Given the description of an element on the screen output the (x, y) to click on. 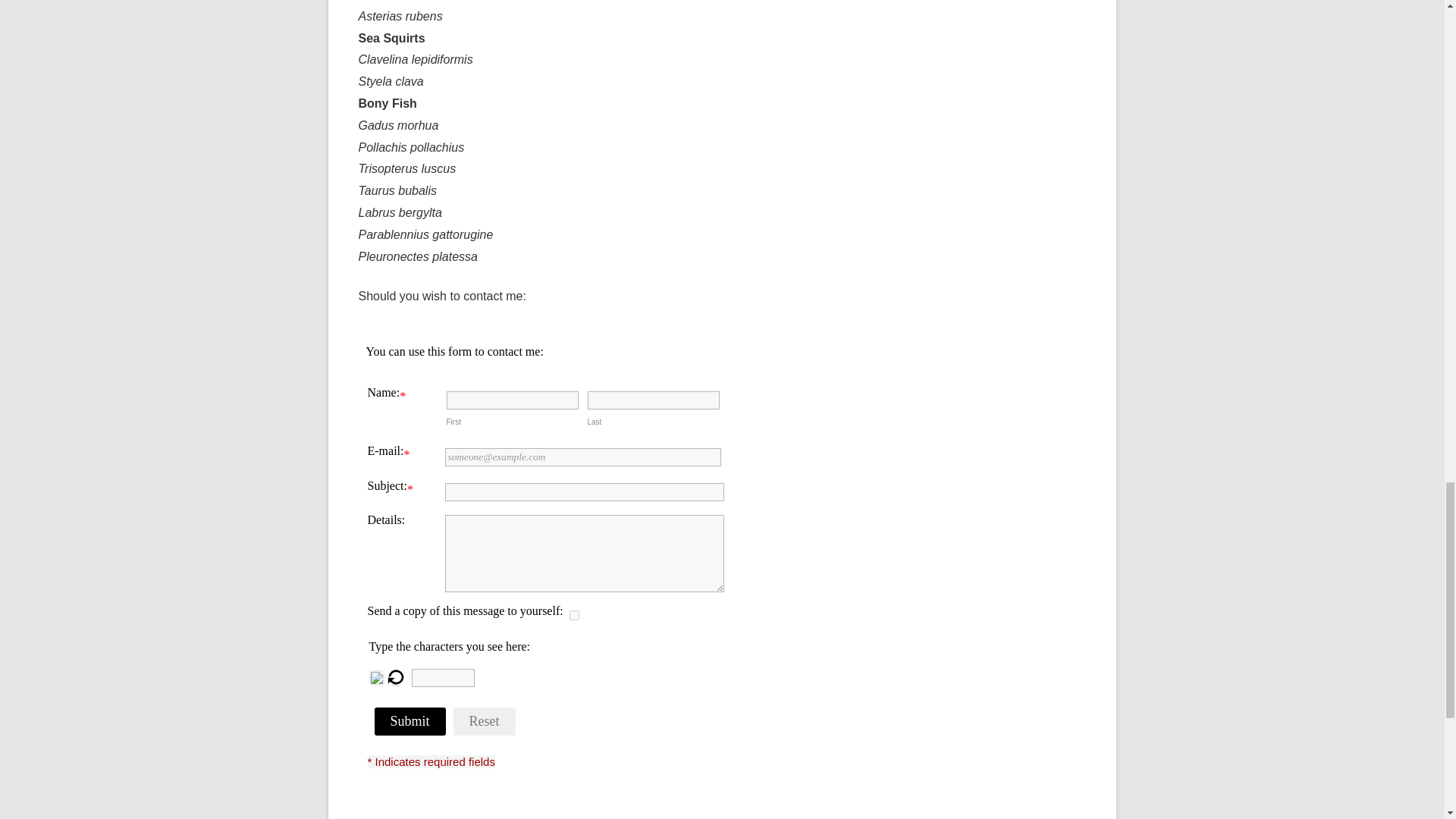
on (573, 614)
